Given the description of an element on the screen output the (x, y) to click on. 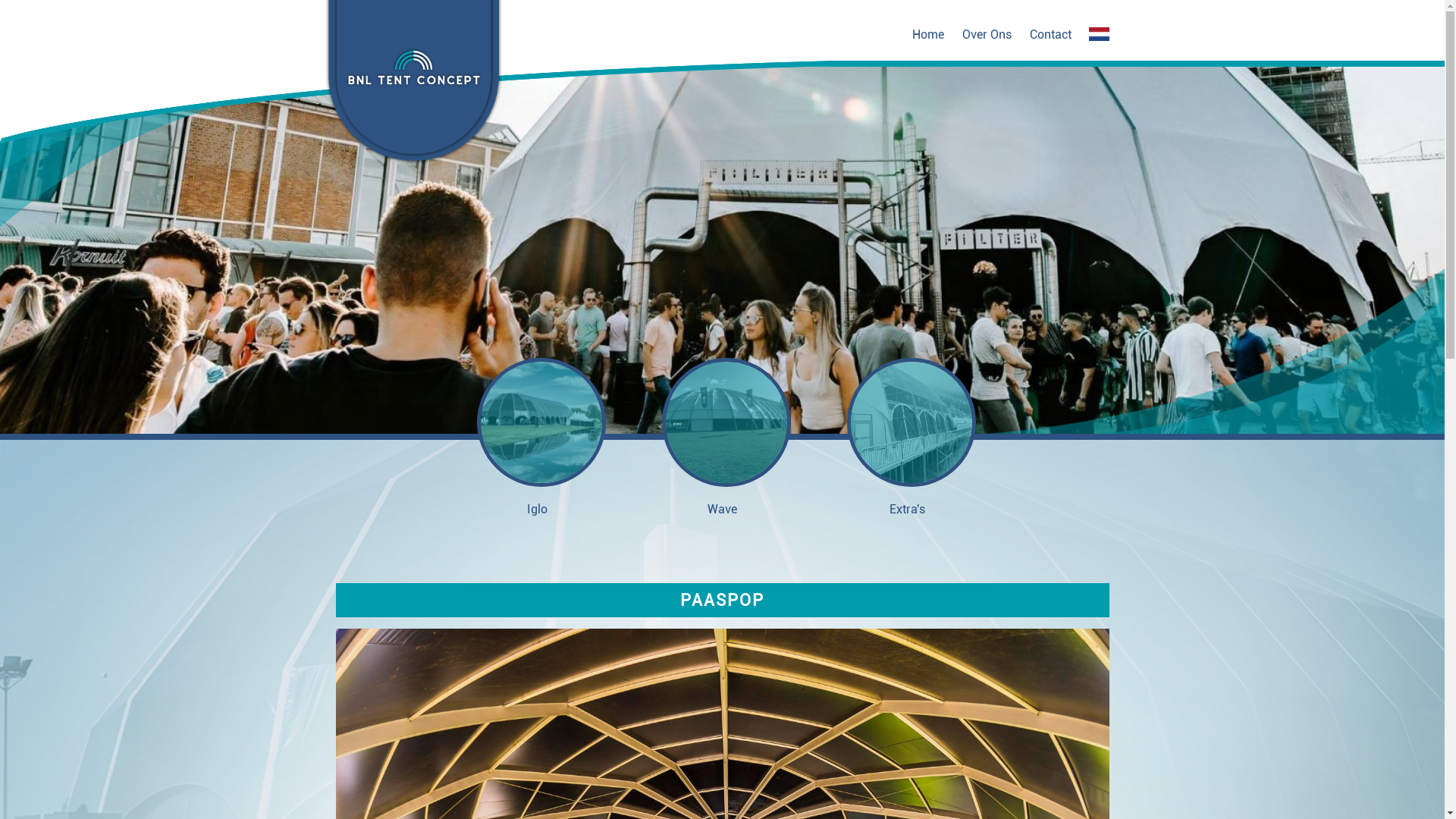
Over Ons Element type: text (985, 34)
Extra's Element type: text (906, 436)
Iglo Element type: text (536, 436)
Contact Element type: text (1050, 34)
Wave Element type: text (721, 436)
Home Element type: text (927, 34)
